Given the description of an element on the screen output the (x, y) to click on. 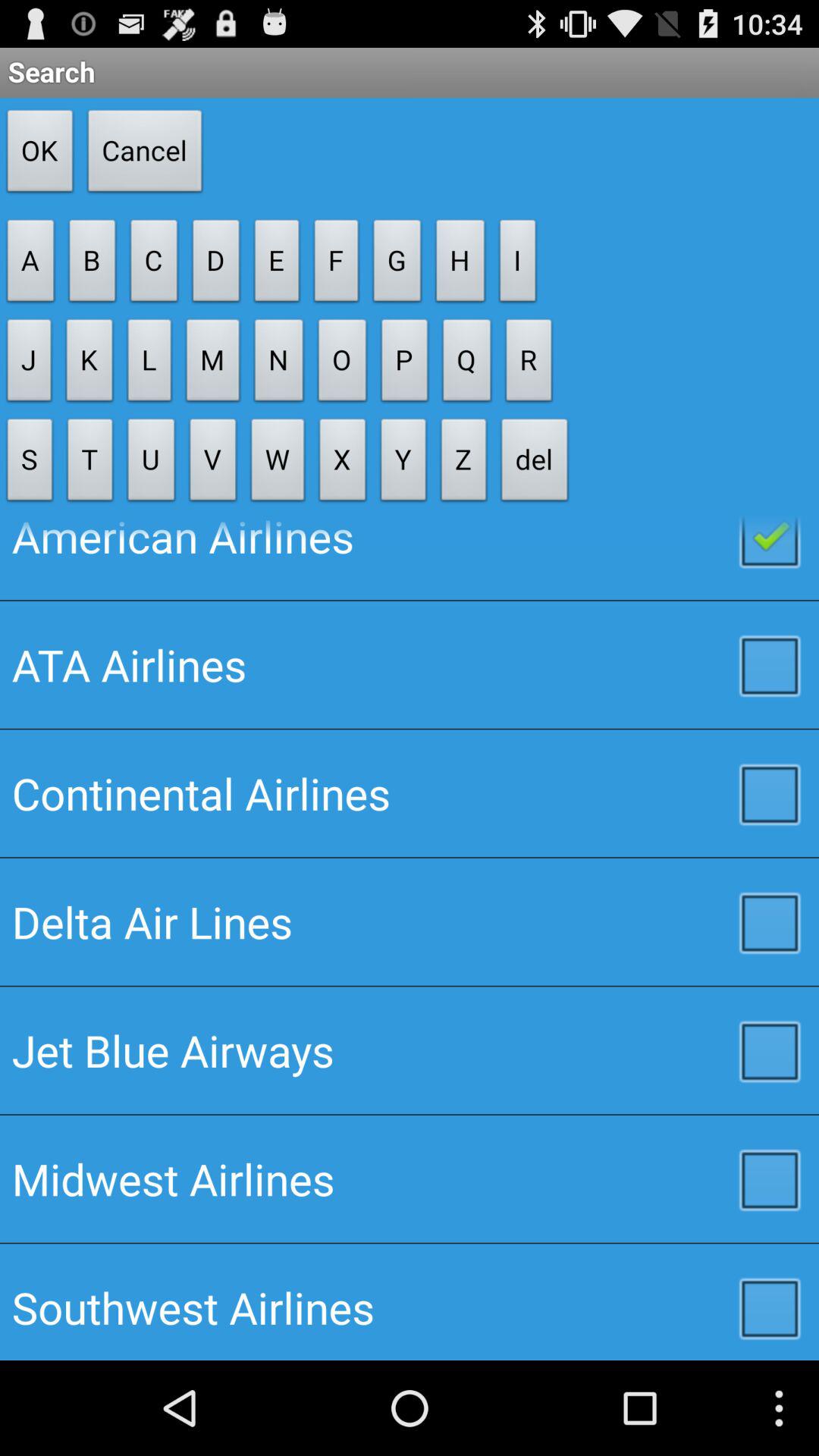
open the midwest airlines (409, 1178)
